Given the description of an element on the screen output the (x, y) to click on. 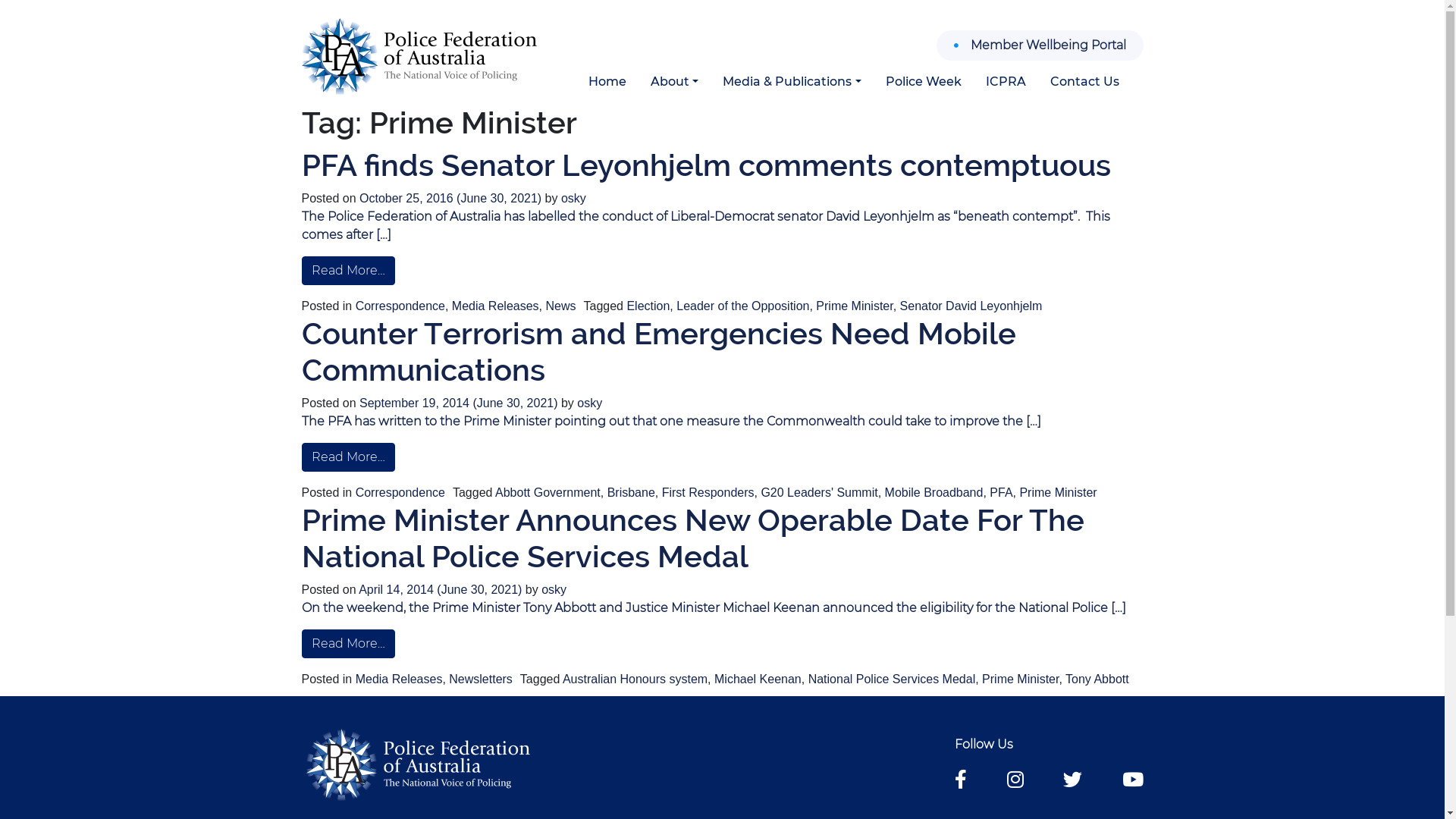
PFA Element type: text (1000, 492)
Police Week Element type: text (923, 81)
Correspondence Element type: text (400, 305)
Home Element type: text (607, 81)
Prime Minister Element type: text (853, 305)
Media Releases Element type: text (495, 305)
Tony Abbott Element type: text (1097, 678)
Abbott Government Element type: text (547, 492)
Media Releases Element type: text (398, 678)
ICPRA Element type: text (1005, 81)
Senator David Leyonhjelm Element type: text (971, 305)
osky Element type: text (553, 589)
About Element type: text (674, 81)
Leader of the Opposition Element type: text (742, 305)
September 19, 2014 (June 30, 2021) Element type: text (460, 402)
Election Element type: text (647, 305)
Prime Minister Element type: text (1057, 492)
Prime Minister Element type: text (1020, 678)
Correspondence Element type: text (400, 492)
Michael Keenan Element type: text (757, 678)
Mobile Broadband Element type: text (933, 492)
Member Wellbeing Portal Element type: text (1038, 45)
PFA finds Senator Leyonhjelm comments contemptuous Element type: text (705, 164)
National Police Services Medal Element type: text (891, 678)
First Responders Element type: text (708, 492)
G20 Leaders' Summit Element type: text (818, 492)
Contact Us Element type: text (1083, 81)
Australian Honours system Element type: text (634, 678)
Counter Terrorism and Emergencies Need Mobile Communications Element type: text (658, 351)
Brisbane Element type: text (631, 492)
News Element type: text (560, 305)
October 25, 2016 (June 30, 2021) Element type: text (452, 197)
osky Element type: text (573, 197)
osky Element type: text (589, 402)
April 14, 2014 (June 30, 2021) Element type: text (441, 589)
Media & Publications Element type: text (791, 81)
Newsletters Element type: text (480, 678)
